Given the description of an element on the screen output the (x, y) to click on. 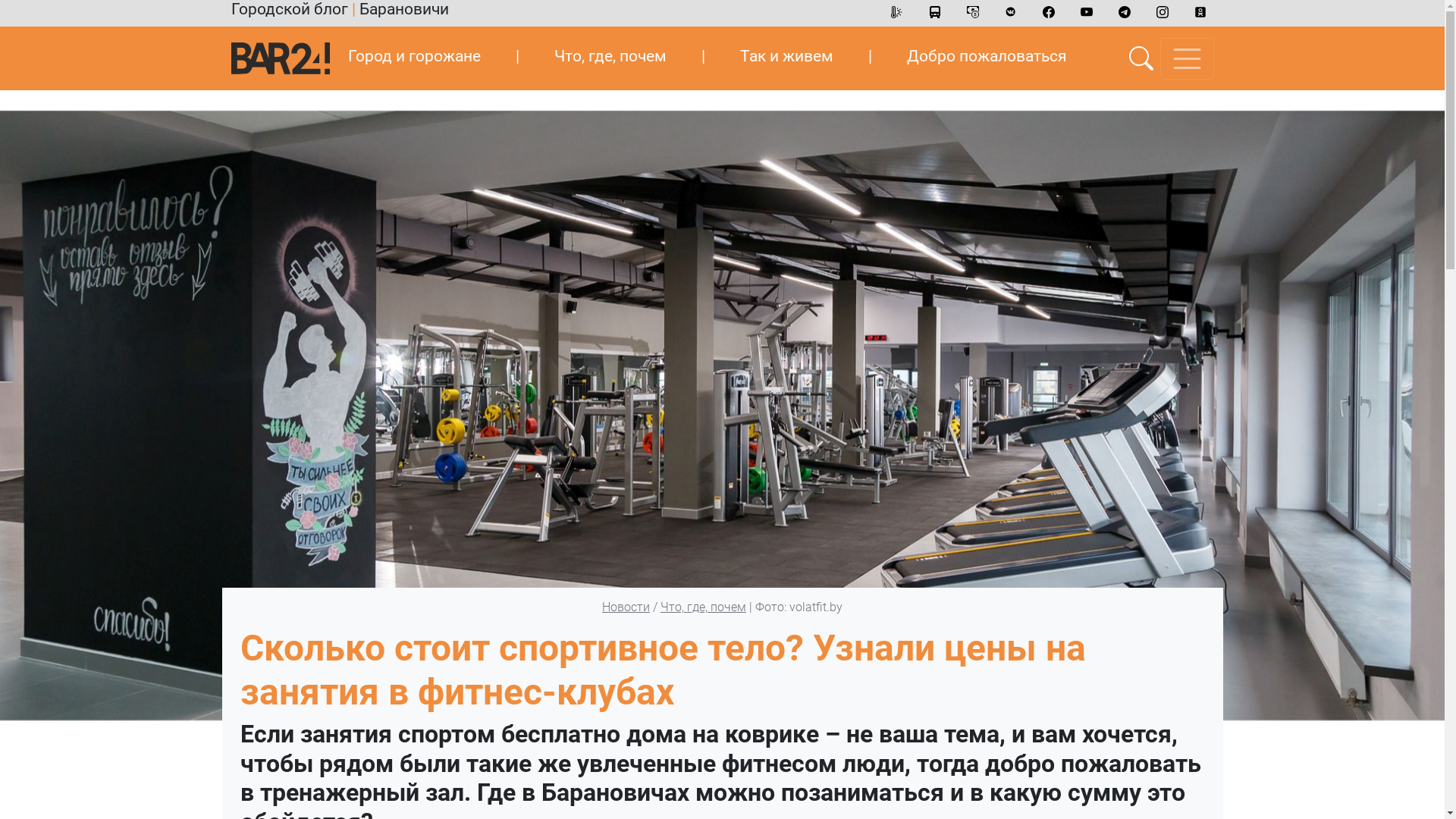
| Element type: text (517, 56)
| Element type: text (870, 56)
| Element type: text (703, 56)
